Given the description of an element on the screen output the (x, y) to click on. 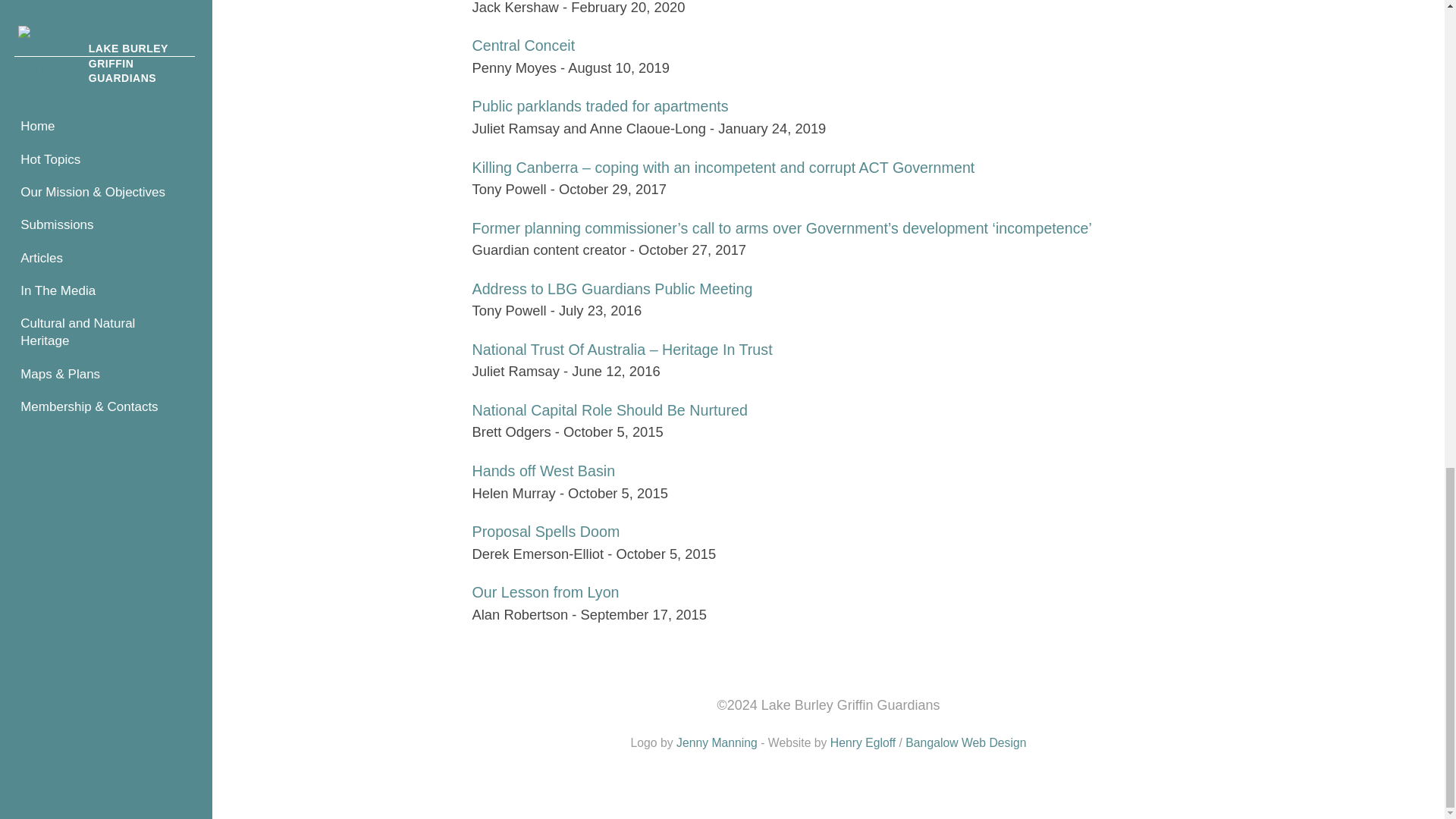
Public parklands traded for apartments (599, 105)
Central Conceit (523, 45)
Bangalow Web Design (965, 742)
Jenny Manning (717, 742)
National Capital Role Should Be Nurtured (608, 410)
National Capital Role Should Be Nurtured (608, 410)
Proposal Spells Doom (545, 531)
Hands off West Basin (542, 470)
Address to LBG Guardians Public Meeting (611, 288)
Henry Egloff (862, 742)
Hands off West Basin (542, 470)
Proposal Spells Doom (545, 531)
Public parklands traded for apartments (599, 105)
Our Lesson from Lyon (544, 591)
Address to LBG Guardians Public Meeting (611, 288)
